Given the description of an element on the screen output the (x, y) to click on. 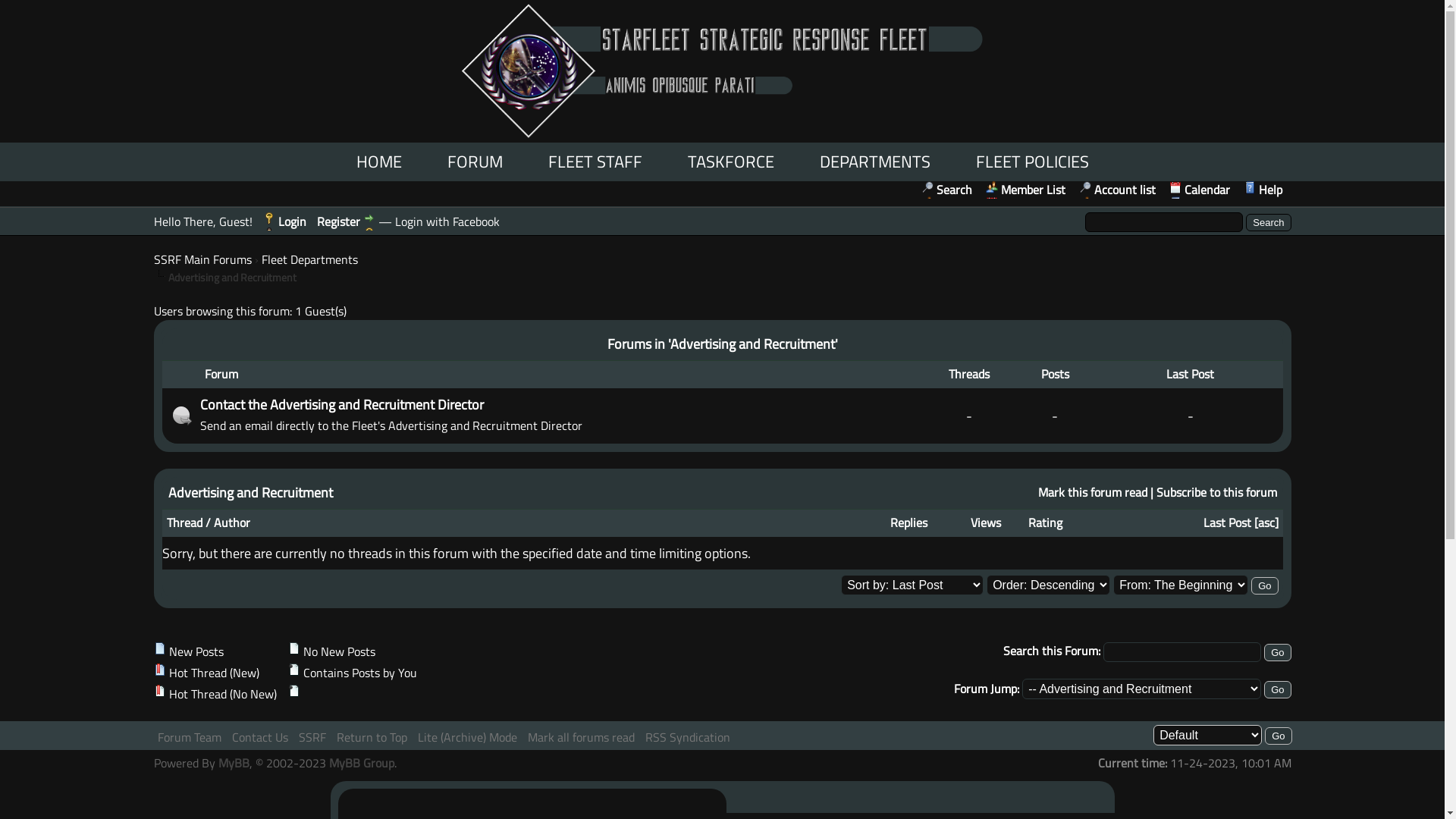
Contact the Advertising and Recruitment Director Element type: text (341, 404)
Go Element type: text (1277, 689)
Fleet Departments Element type: text (308, 259)
Go Element type: text (1264, 585)
Author Element type: text (231, 523)
Contains Posts by You Element type: hover (294, 669)
Login Element type: text (283, 221)
Hot Thread (No New) Element type: hover (159, 690)
FLEET POLICIES Element type: text (1031, 161)
asc Element type: text (1265, 523)
Help Element type: text (1262, 189)
SSRF Main Forums Element type: text (202, 259)
Hot Thread (New) Element type: hover (159, 669)
FORUM Element type: text (474, 161)
Calendar Element type: text (1199, 189)
Mark all forums read Element type: text (580, 737)
Search Element type: text (1267, 222)
Rating Element type: text (1045, 523)
DEPARTMENTS Element type: text (873, 161)
Account list Element type: text (1116, 189)
Return to Top Element type: text (371, 737)
MyBB Group Element type: text (361, 762)
Lite (Archive) Mode Element type: text (466, 737)
Redirect Forum Element type: hover (180, 415)
Mark this forum read Element type: text (1091, 492)
TASKFORCE Element type: text (729, 161)
Search Element type: text (945, 189)
Go Element type: text (1277, 652)
Views Element type: text (985, 523)
MyBB Element type: text (233, 762)
HOME Element type: text (379, 161)
Contact Us Element type: text (260, 737)
RSS Syndication Element type: text (686, 737)
New Posts Element type: hover (159, 648)
SSRF Element type: text (312, 737)
Register Element type: text (345, 221)
Forum Team Element type: text (189, 737)
Thread Element type: text (184, 523)
Login with Facebook Element type: text (446, 221)
Replies Element type: text (908, 523)
No New Posts Element type: hover (294, 648)
Go Element type: text (1277, 735)
Subscribe to this forum Element type: text (1215, 492)
FLEET STAFF Element type: text (594, 161)
Last Post Element type: text (1226, 523)
Member List Element type: text (1025, 189)
